Given the description of an element on the screen output the (x, y) to click on. 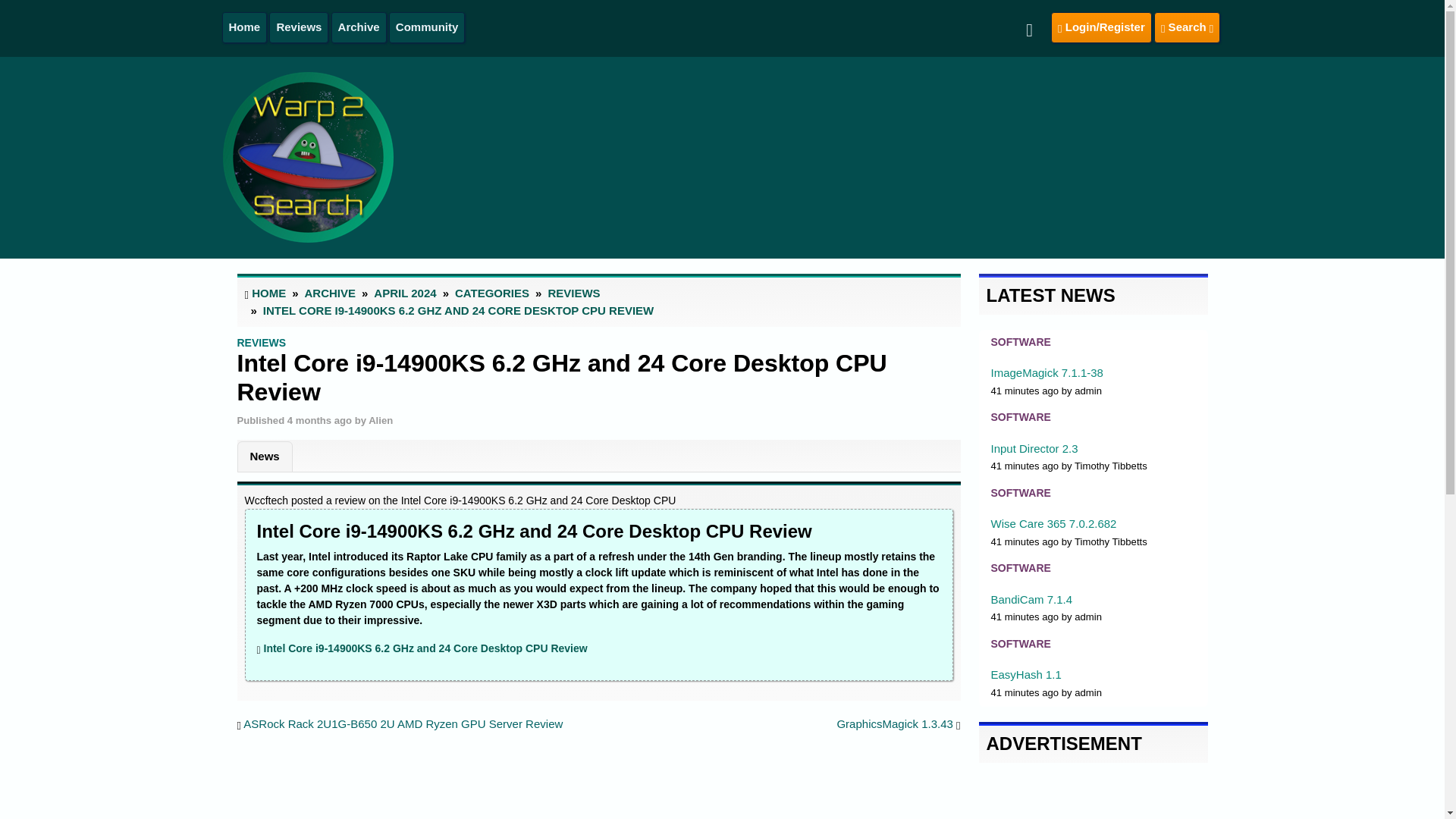
Intel Core i9-14900KS 6.2 GHz and 24 Core Desktop CPU Review (425, 648)
SOFTWARE (1019, 341)
REVIEWS (573, 292)
SOFTWARE (1019, 417)
ARCHIVE (330, 292)
APRIL 2024 (404, 292)
Home (244, 27)
Community (427, 27)
INTEL CORE I9-14900KS 6.2 GHZ AND 24 CORE DESKTOP CPU REVIEW (458, 309)
